Given the description of an element on the screen output the (x, y) to click on. 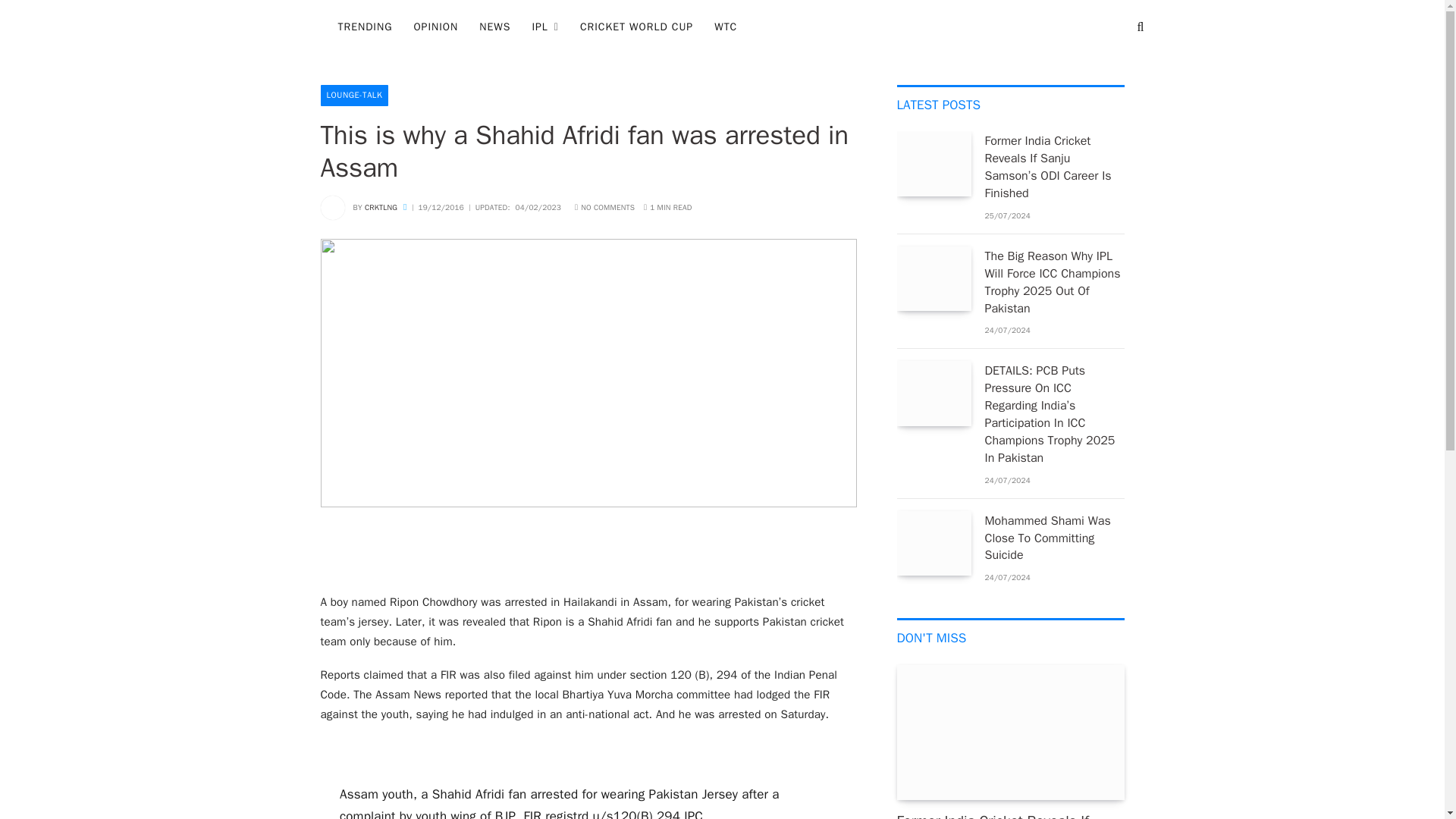
LOUNGE-TALK (354, 95)
Posts by crktlng (381, 207)
TRENDING (365, 27)
CRICKET WORLD CUP (636, 27)
NEWS (494, 27)
CRKTLNG (381, 207)
WTC (725, 27)
IPL (545, 27)
NO COMMENTS (604, 207)
OPINION (435, 27)
Search (1139, 27)
